Given the description of an element on the screen output the (x, y) to click on. 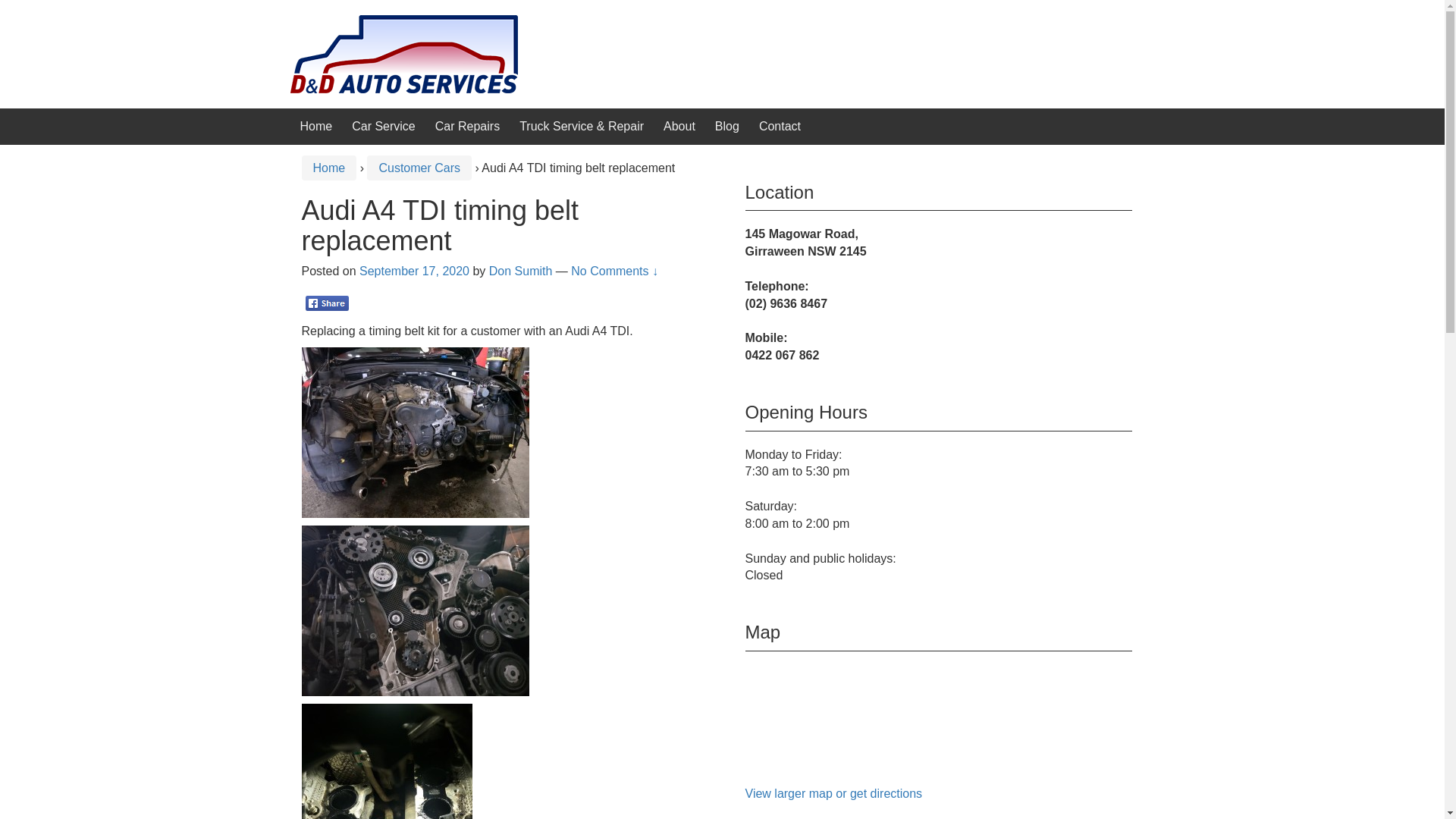
Car Service Element type: text (383, 125)
Skip to content Element type: text (40, 8)
D & D Auto Services Element type: hover (403, 53)
Contact Element type: text (779, 125)
Car Repairs Element type: text (467, 125)
About Element type: text (679, 125)
Skip to main menu Element type: text (50, 8)
View larger map or get directions Element type: text (833, 793)
Truck Service & Repair Element type: text (581, 125)
Blog Element type: text (727, 125)
Don Sumith Element type: text (520, 270)
September 17, 2020 Element type: text (414, 270)
Customer Cars Element type: text (419, 167)
Home Element type: text (316, 125)
Home Element type: text (328, 167)
